Given the description of an element on the screen output the (x, y) to click on. 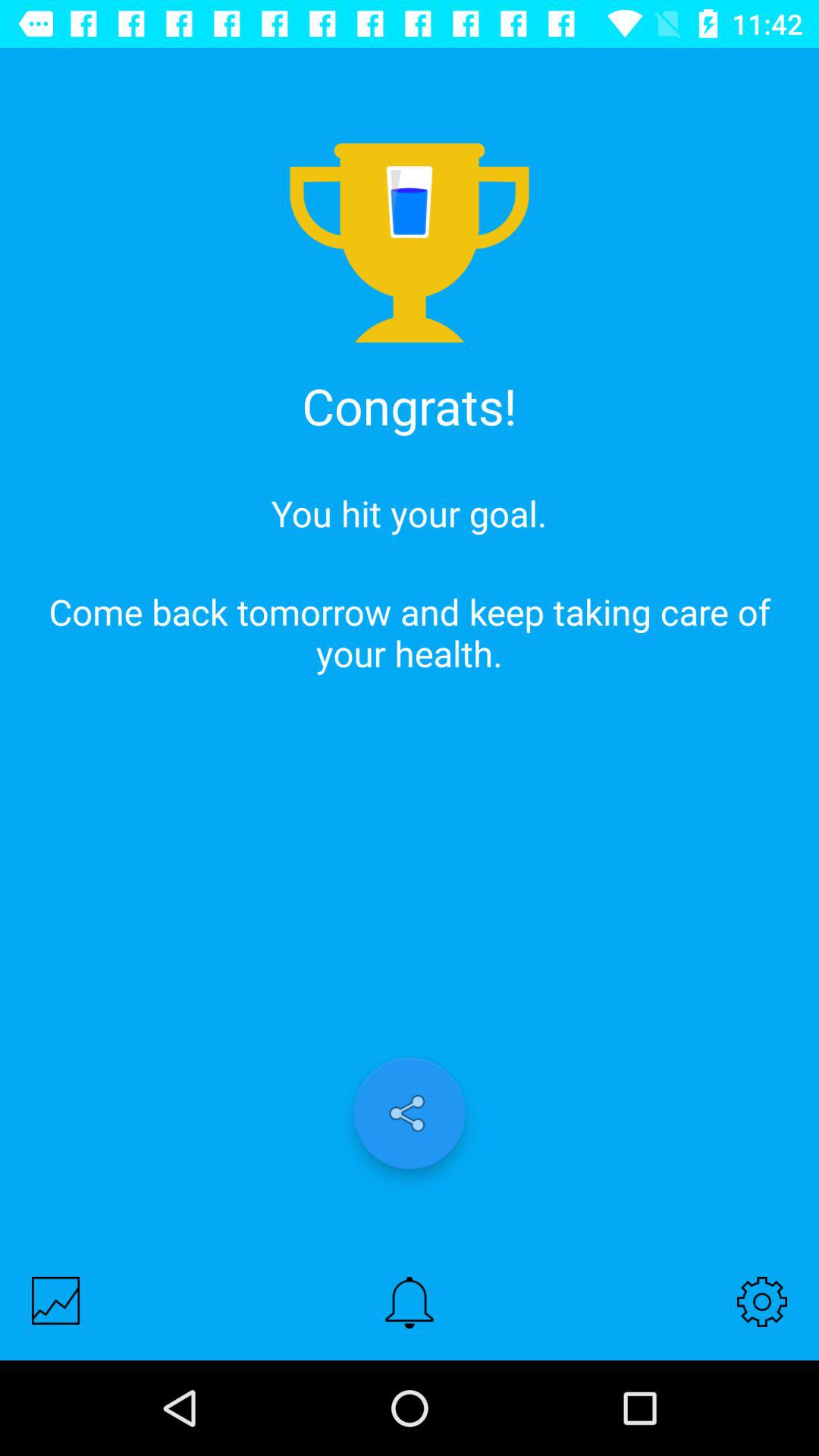
suscribe (409, 1302)
